Given the description of an element on the screen output the (x, y) to click on. 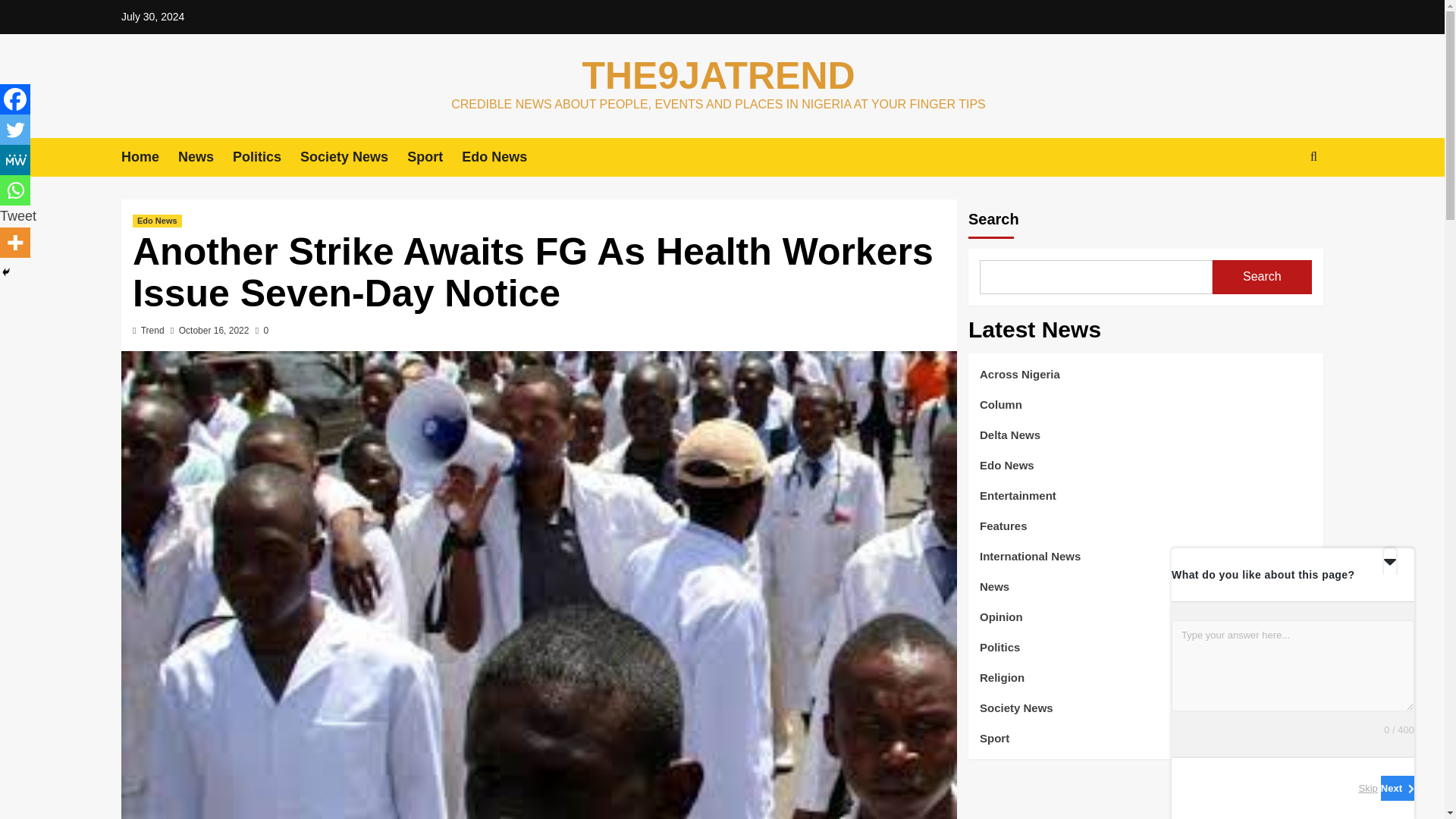
News (204, 157)
THE9JATREND (717, 75)
Sport (434, 157)
Twitter (15, 129)
Tweet (18, 215)
0 (261, 330)
Facebook (15, 99)
October 16, 2022 (213, 330)
Trend (152, 330)
Edo News (503, 157)
Home (148, 157)
Politics (265, 157)
Edo News (157, 220)
Society News (353, 157)
